Given the description of an element on the screen output the (x, y) to click on. 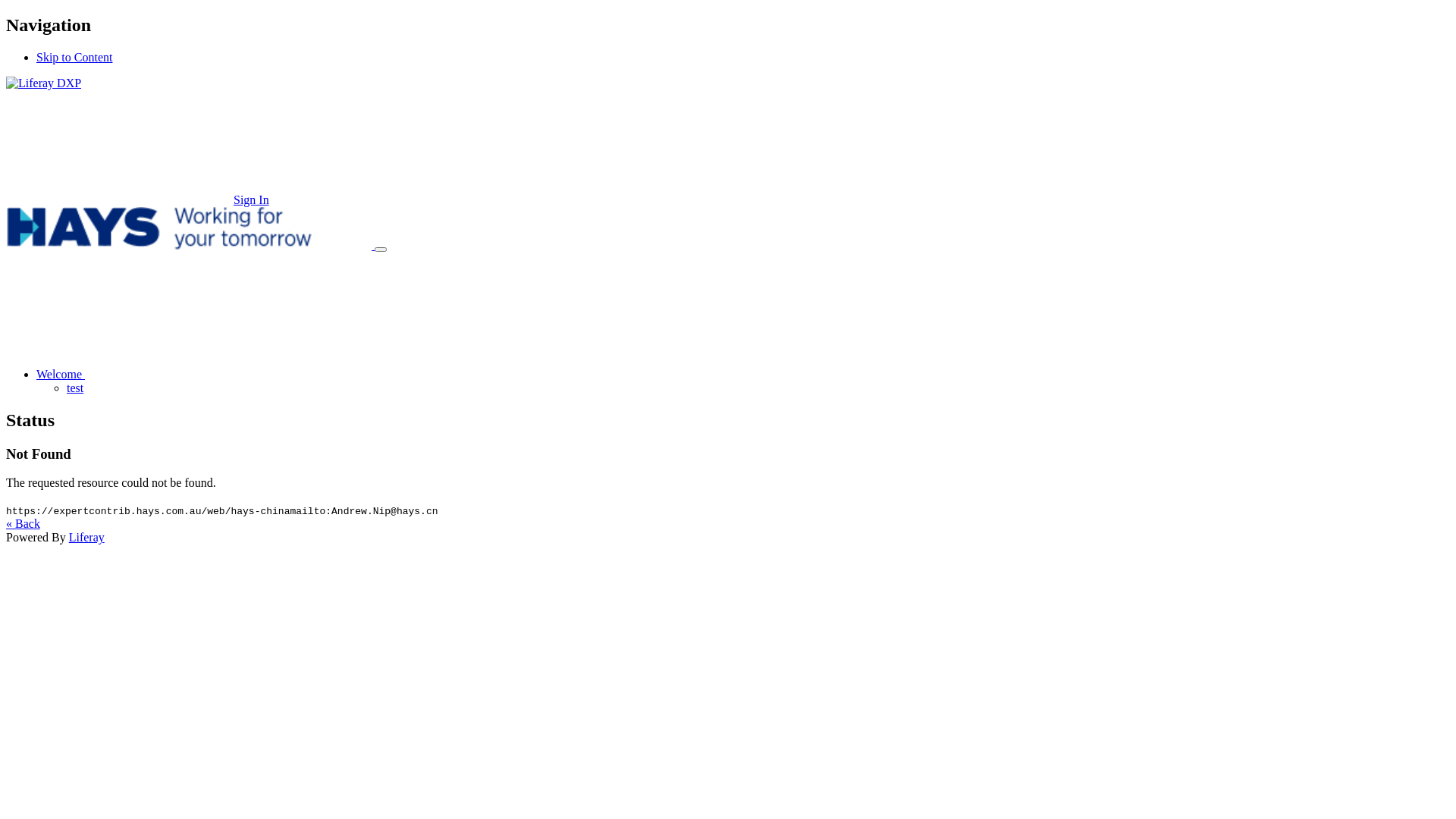
Sign In Element type: text (137, 199)
Skip to Content Element type: text (74, 56)
Liferay Element type: text (86, 536)
Welcome Element type: text (174, 373)
test Element type: text (74, 387)
Go to  Element type: hover (43, 82)
